Given the description of an element on the screen output the (x, y) to click on. 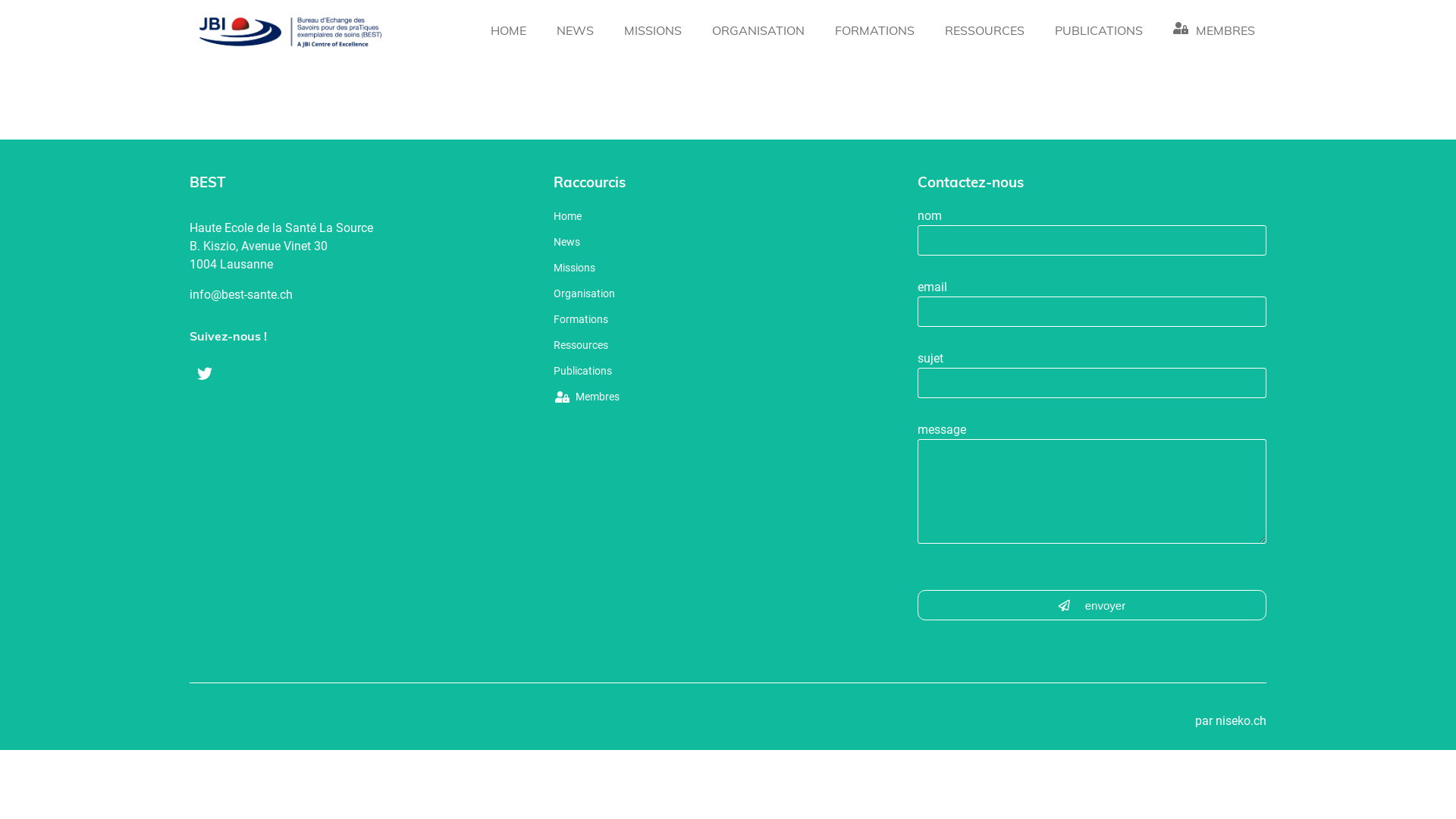
Organisation Element type: text (648, 297)
RESSOURCES Element type: text (984, 31)
HOME Element type: text (508, 31)
Home Element type: text (648, 219)
envoyer Element type: text (1091, 604)
MEMBRES Element type: text (1213, 31)
NEWS Element type: text (575, 31)
Missions Element type: text (648, 271)
FORMATIONS Element type: text (874, 31)
Publications Element type: text (648, 374)
News Element type: text (648, 245)
PUBLICATIONS Element type: text (1098, 31)
MISSIONS Element type: text (652, 31)
info@best-sante.ch Element type: text (240, 294)
ORGANISATION Element type: text (758, 31)
niseko.ch Element type: text (1240, 720)
Formations Element type: text (648, 322)
Membres Element type: text (648, 402)
Ressources Element type: text (648, 348)
